Given the description of an element on the screen output the (x, y) to click on. 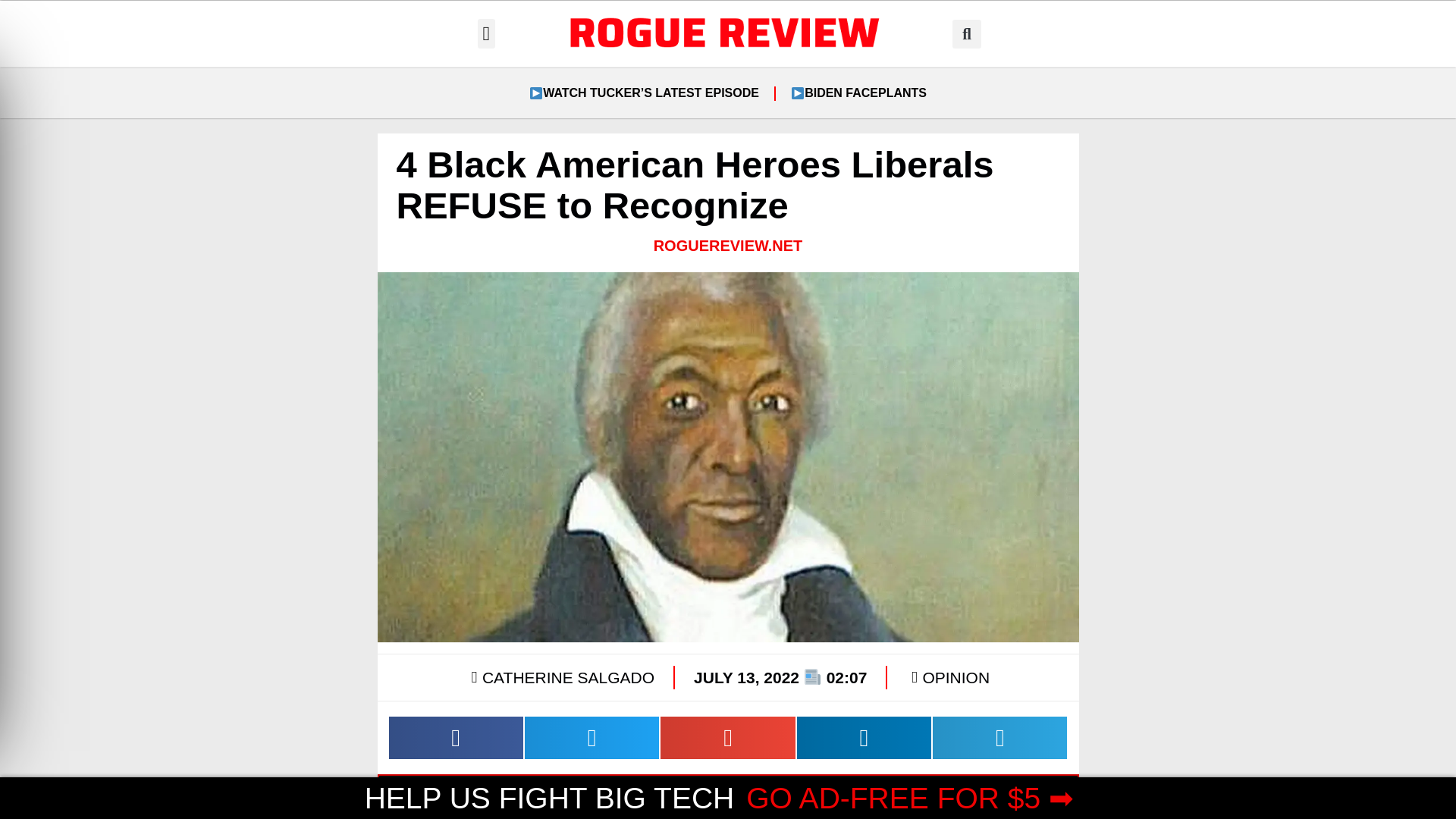
CATHERINE SALGADO (559, 677)
BIDEN FACEPLANTS (859, 93)
OPINION (955, 677)
